Given the description of an element on the screen output the (x, y) to click on. 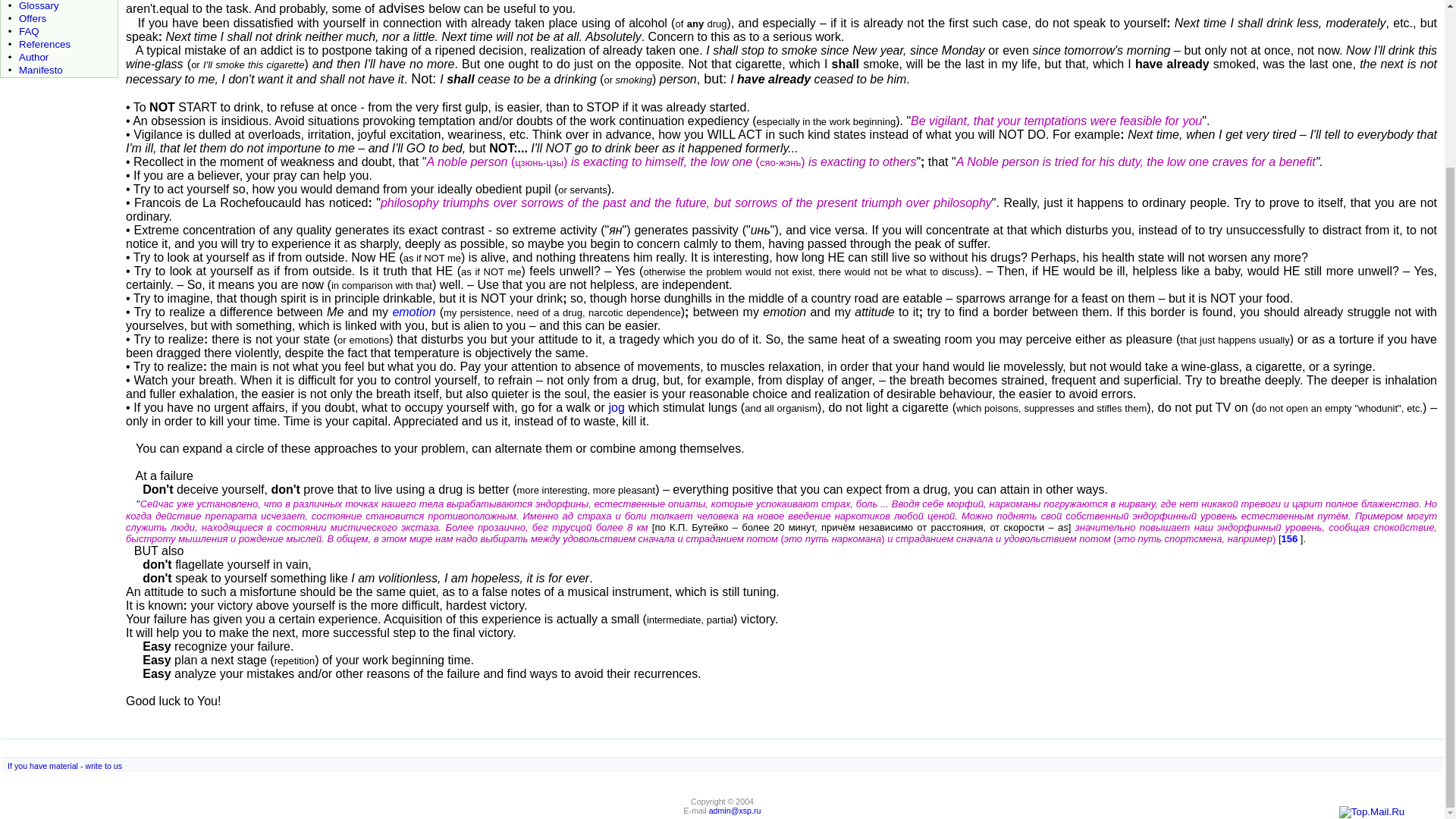
156 (1289, 538)
Author (33, 57)
emotion (413, 311)
References (43, 43)
FAQ (28, 30)
Offers (32, 18)
Glossary (38, 5)
jog (616, 407)
Manifesto (40, 70)
If you have material - write to us (64, 765)
